Given the description of an element on the screen output the (x, y) to click on. 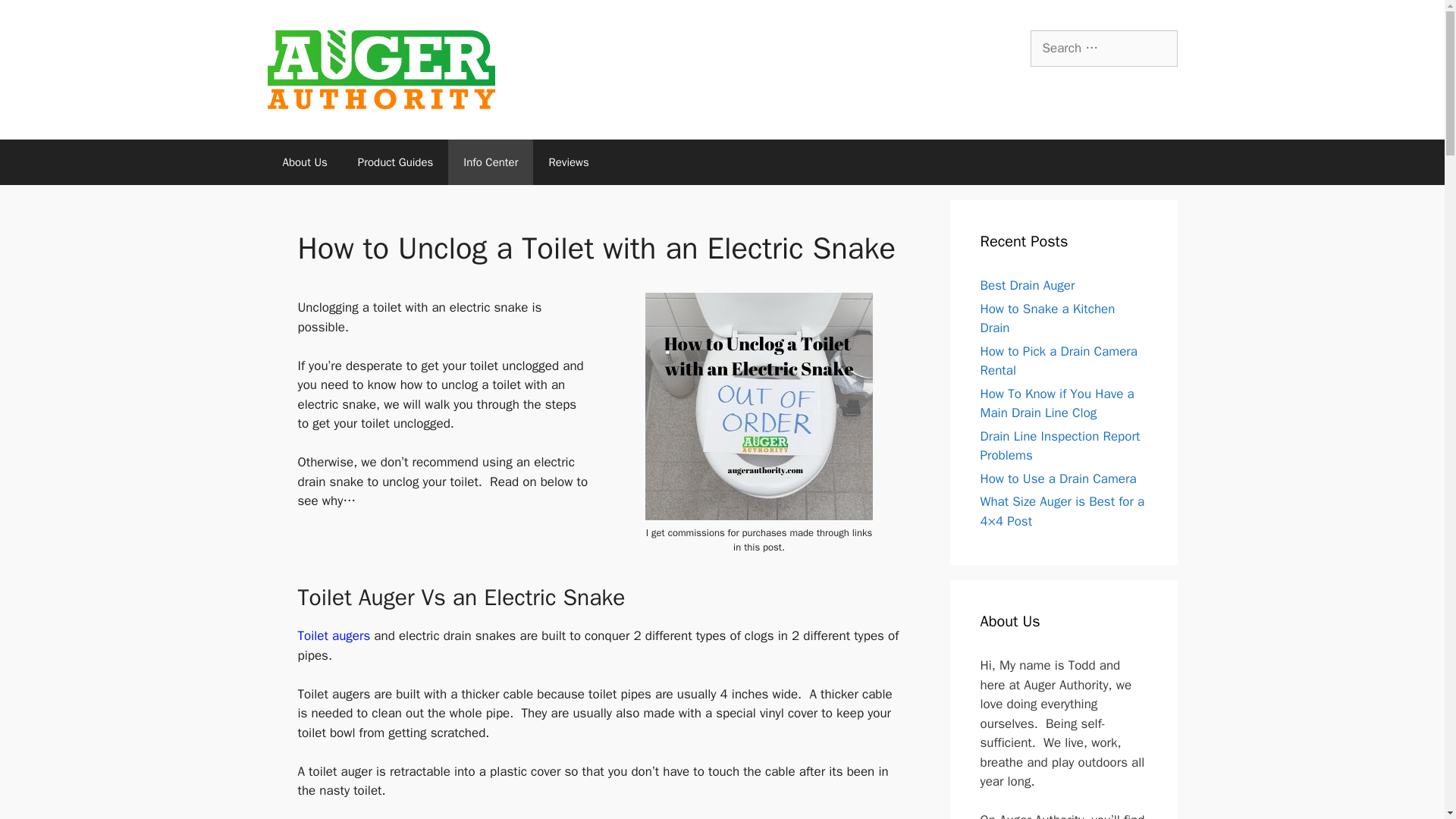
how to unclog a toilet with an electric snake (758, 406)
How to Pick a Drain Camera Rental (1058, 361)
Info Center (490, 162)
Toilet augers (335, 635)
Best Drain Auger (1026, 285)
How to Snake a Kitchen Drain (1047, 318)
About Us (304, 162)
How to Use a Drain Camera (1057, 478)
Drain Line Inspection Report Problems (1059, 446)
Reviews (568, 162)
Search (35, 18)
Product Guides (395, 162)
Search for: (1102, 48)
How To Know if You Have a Main Drain Line Clog (1056, 403)
